Given the description of an element on the screen output the (x, y) to click on. 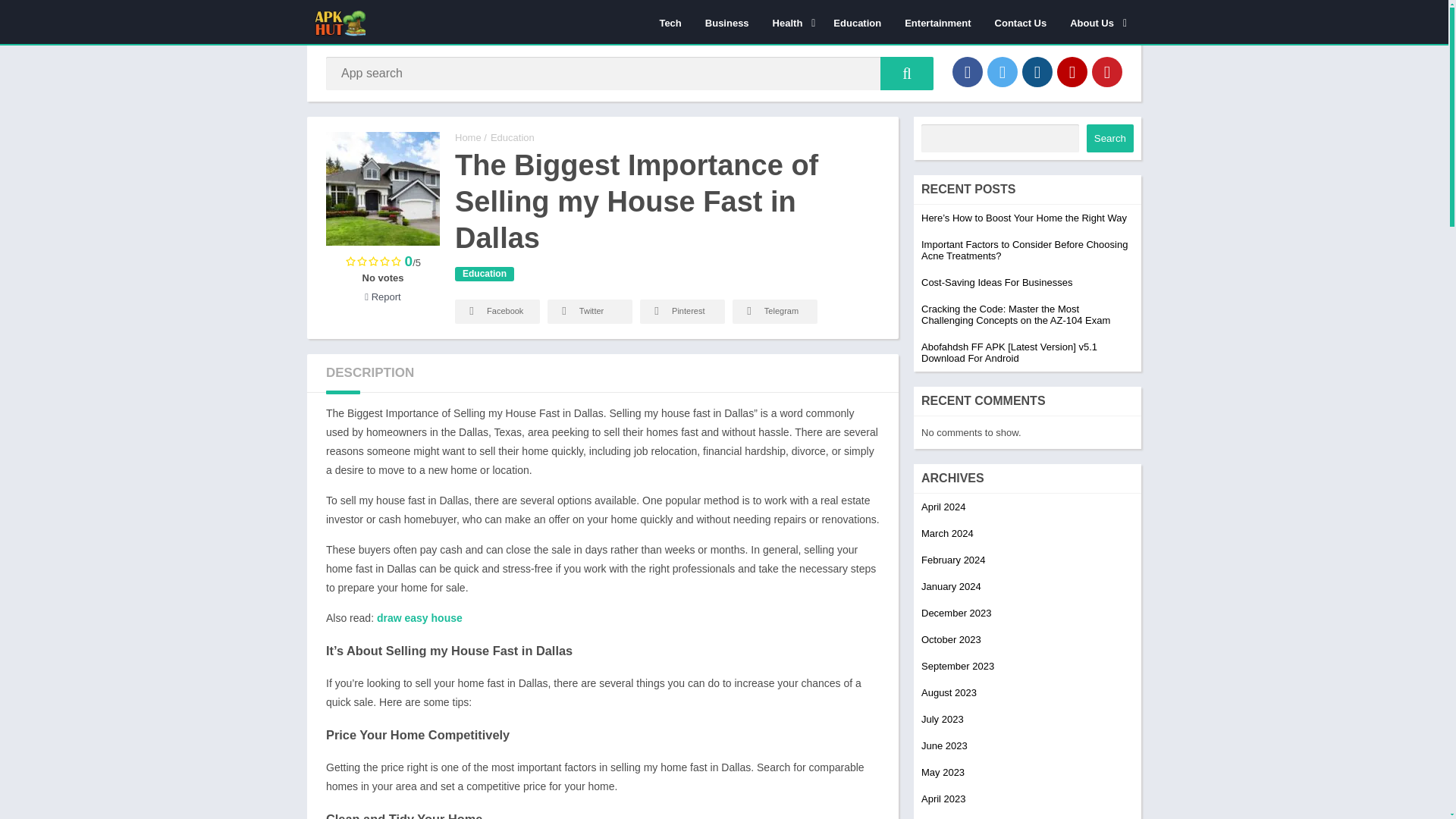
About Us (1095, 22)
App search (906, 73)
Report (382, 296)
Education (483, 273)
YouTube (1072, 71)
Home (467, 137)
Entertainment (937, 22)
Twitter (1002, 71)
Apkhuts (467, 137)
Health (791, 22)
